Given the description of an element on the screen output the (x, y) to click on. 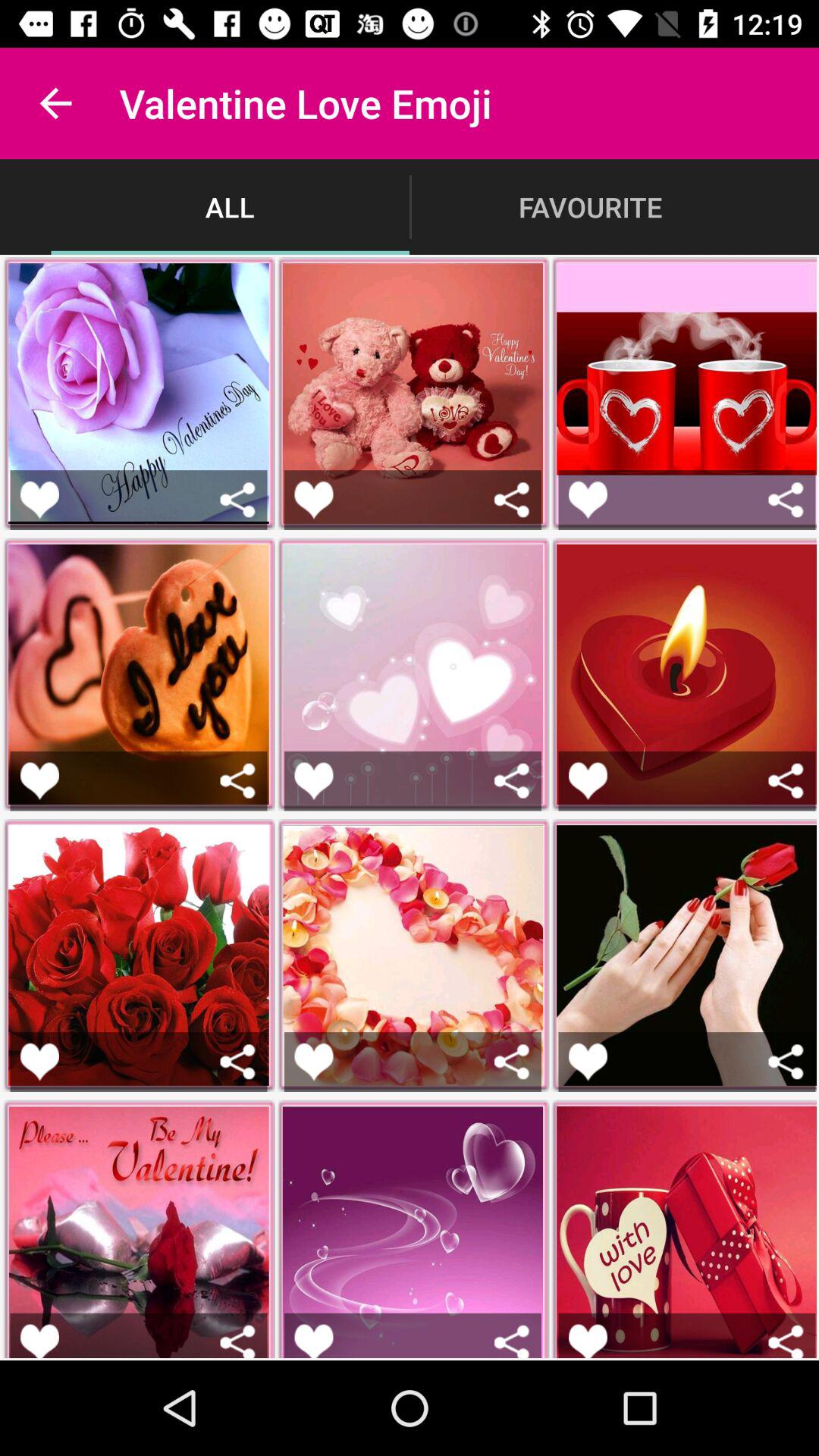
share option (237, 1340)
